Given the description of an element on the screen output the (x, y) to click on. 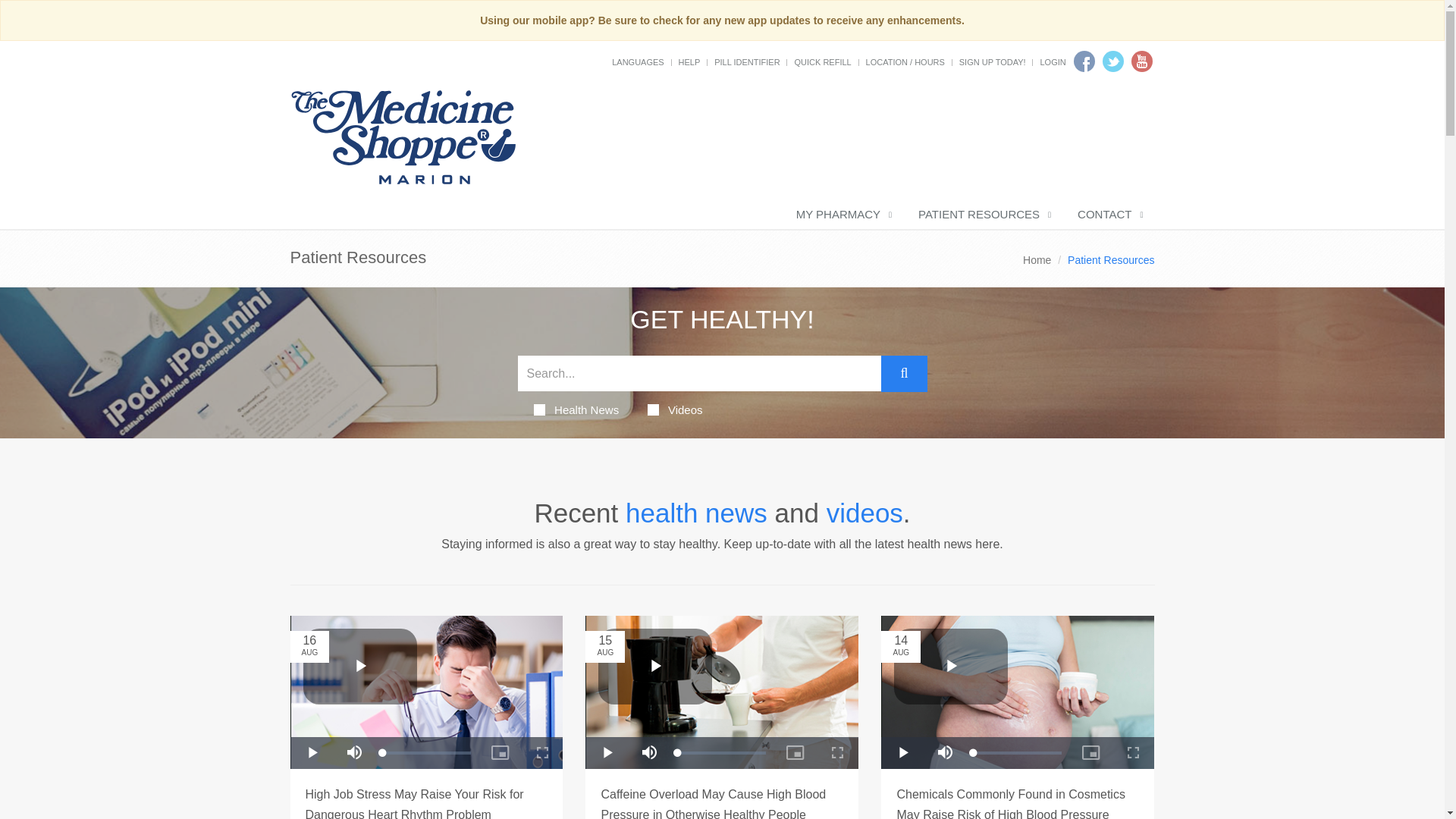
CONTACT (1108, 214)
Home (1037, 259)
PILL IDENTIFIER (746, 61)
MY PHARMACY (841, 214)
PATIENT RESOURCES (982, 214)
HELP (689, 61)
SIGN UP TODAY! (992, 61)
